Given the description of an element on the screen output the (x, y) to click on. 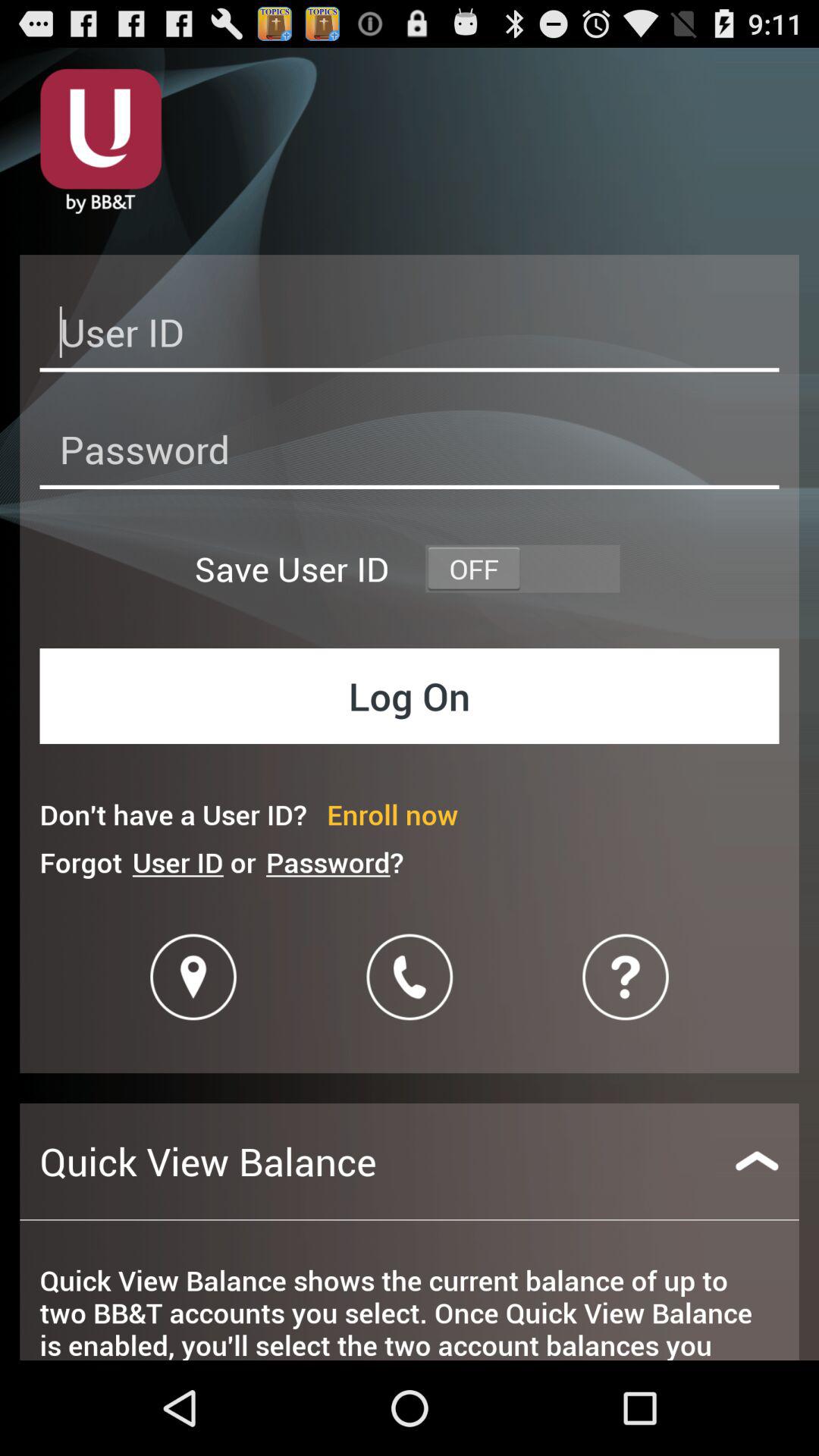
scroll until enroll now icon (392, 814)
